Given the description of an element on the screen output the (x, y) to click on. 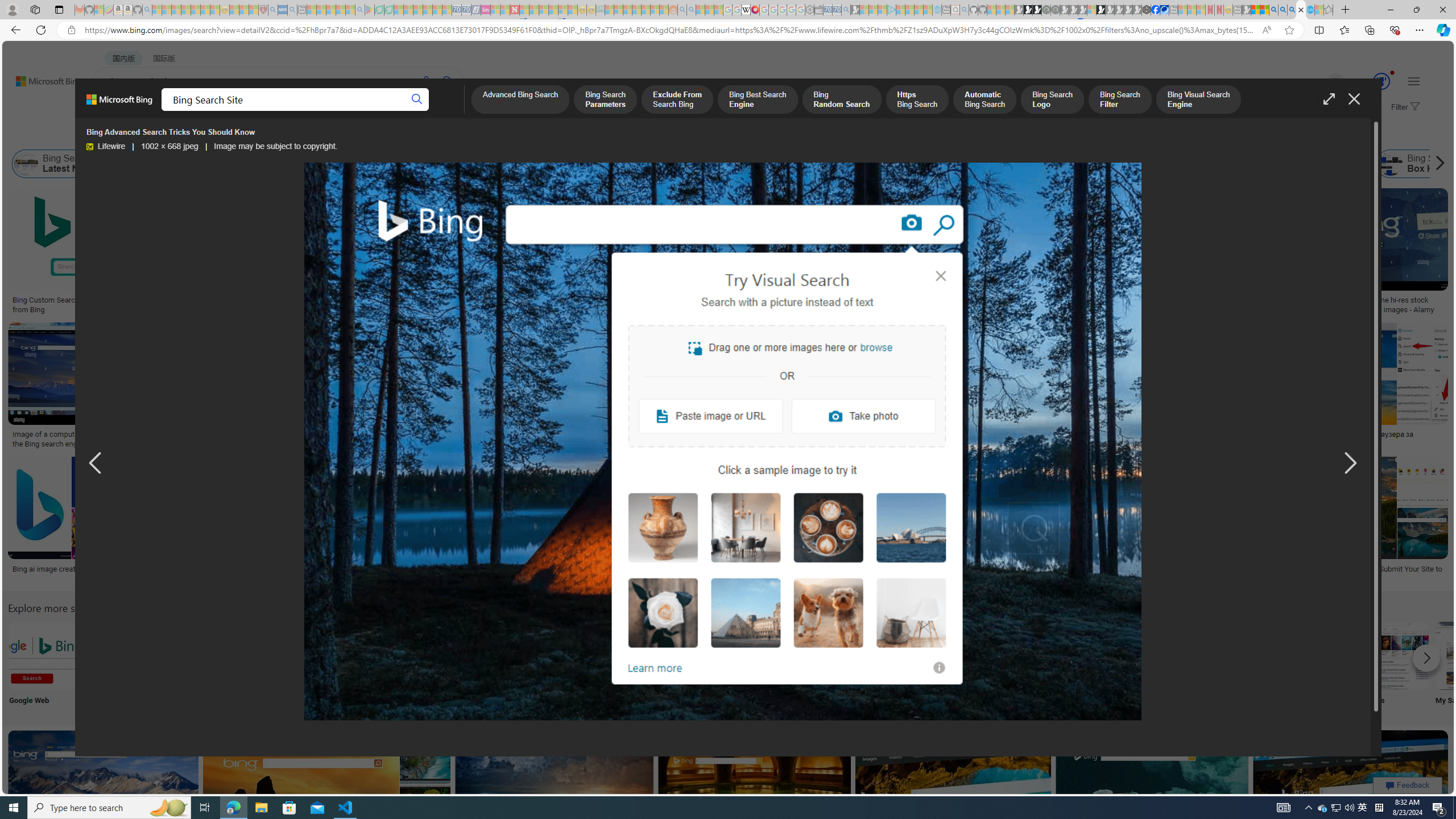
Image size (127, 135)
MediaWiki (754, 9)
Top 10 Search engine | REALITYPOD - Part 3 (925, 434)
Bing Clip ART SEARCH (493, 654)
Bing Custom Search: A New Site Search Solution from Bing (96, 304)
Bing Home Screen (392, 163)
Bing Can Now Search for Any Object in an Image (1119, 434)
New (1169, 665)
